Given the description of an element on the screen output the (x, y) to click on. 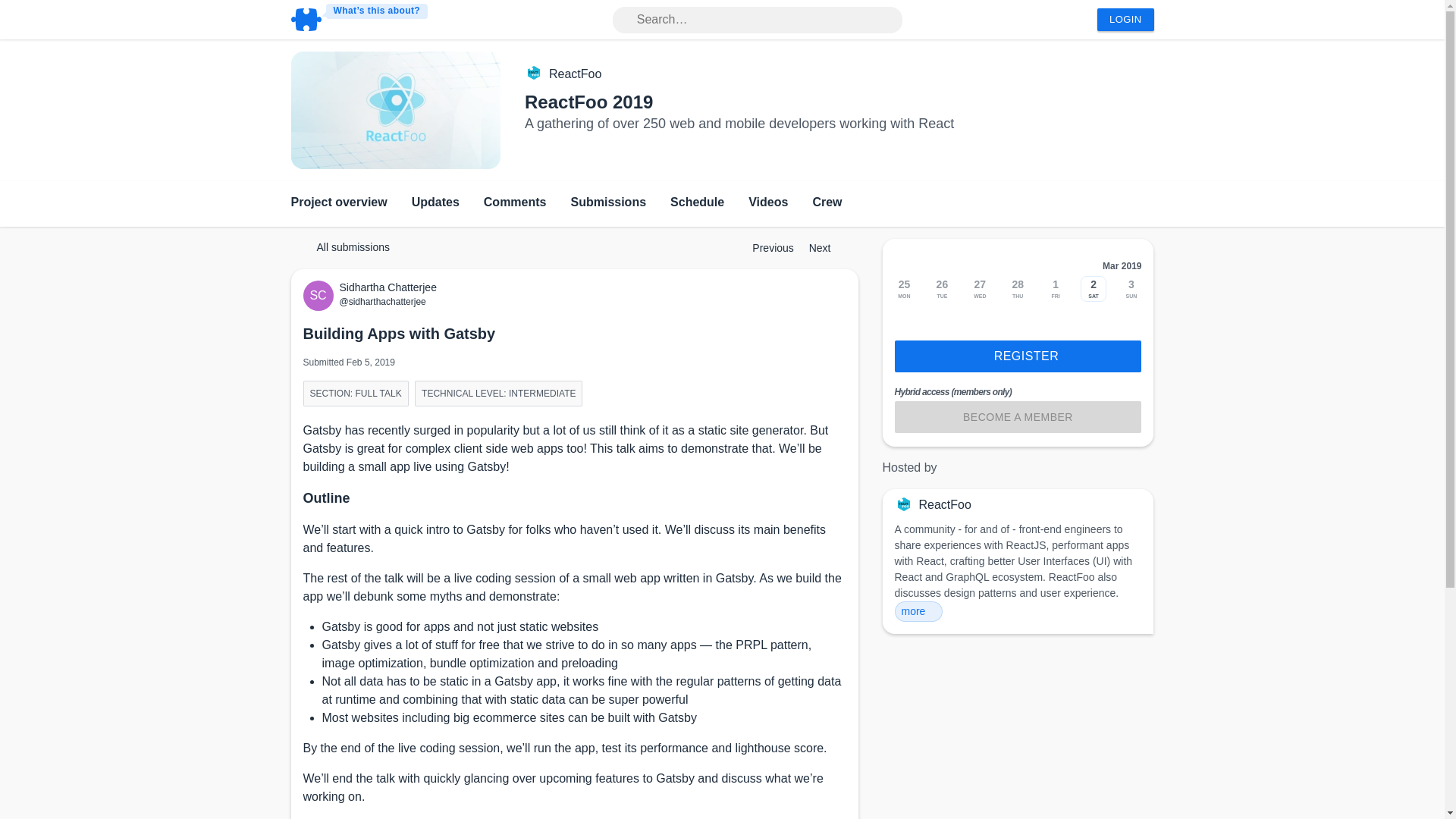
Project overview (339, 203)
Submissions (608, 203)
Videos (767, 203)
All submissions (346, 247)
Comments (515, 203)
ReactFoo 2019 (588, 101)
Crew (826, 203)
Previous (766, 247)
Schedule (696, 203)
ReactFoo (574, 74)
SC (320, 295)
LOGIN (1125, 19)
Next (827, 247)
Updates (436, 203)
